Given the description of an element on the screen output the (x, y) to click on. 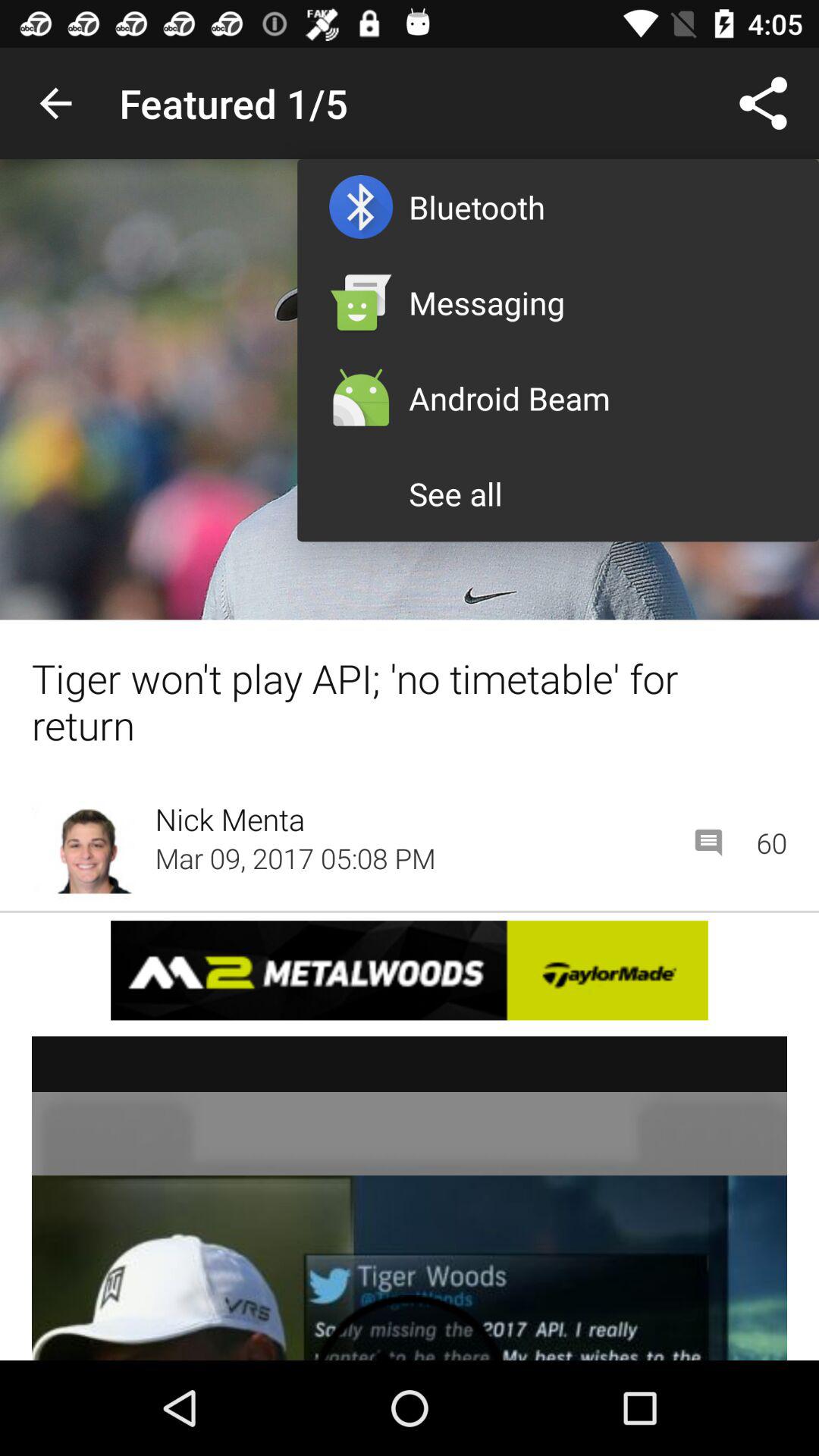
open advertisement (409, 970)
